Given the description of an element on the screen output the (x, y) to click on. 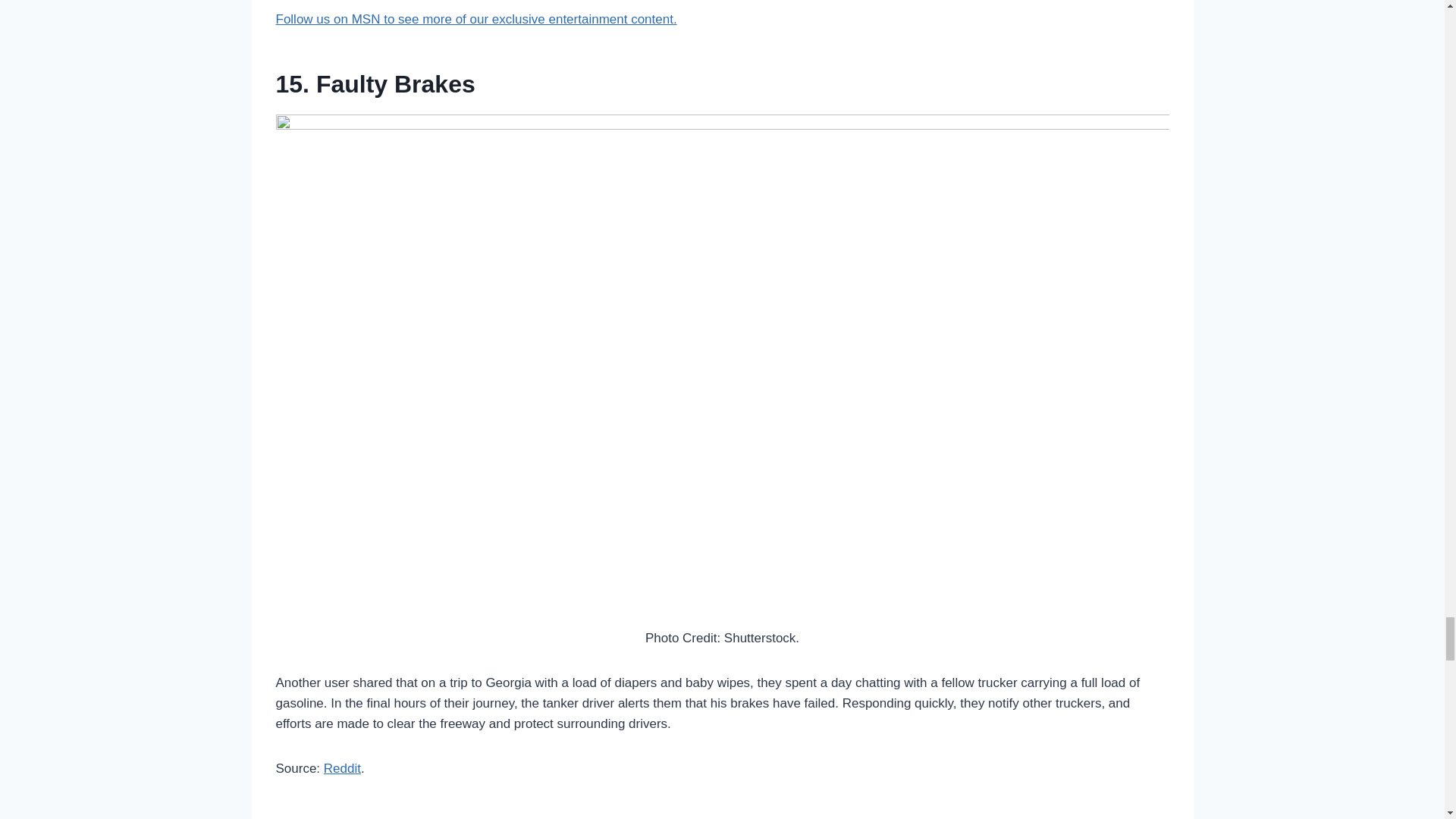
Reddit (342, 768)
